Given the description of an element on the screen output the (x, y) to click on. 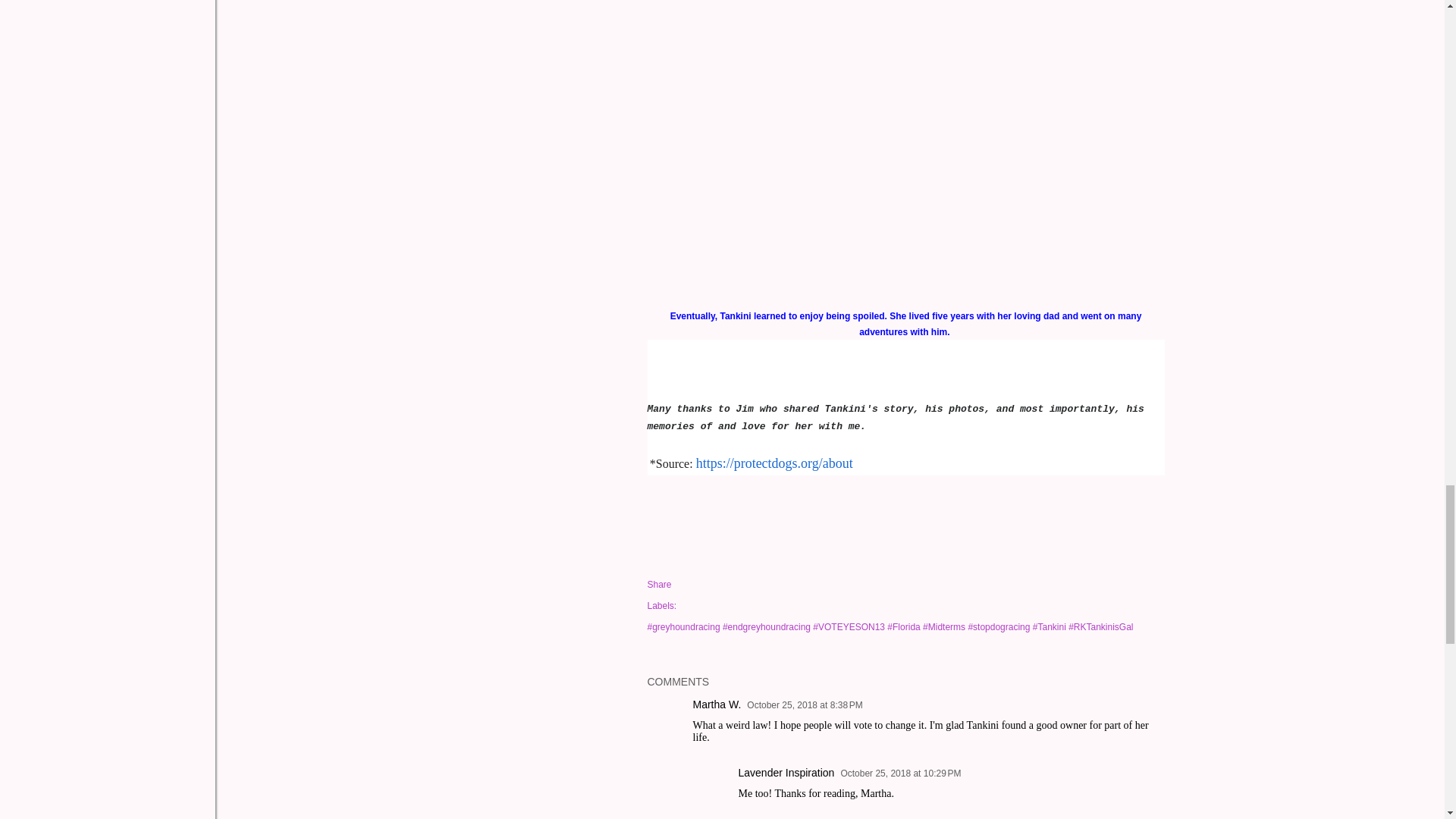
Share (659, 584)
Lavender Inspiration (786, 772)
Martha W. (717, 704)
